Given the description of an element on the screen output the (x, y) to click on. 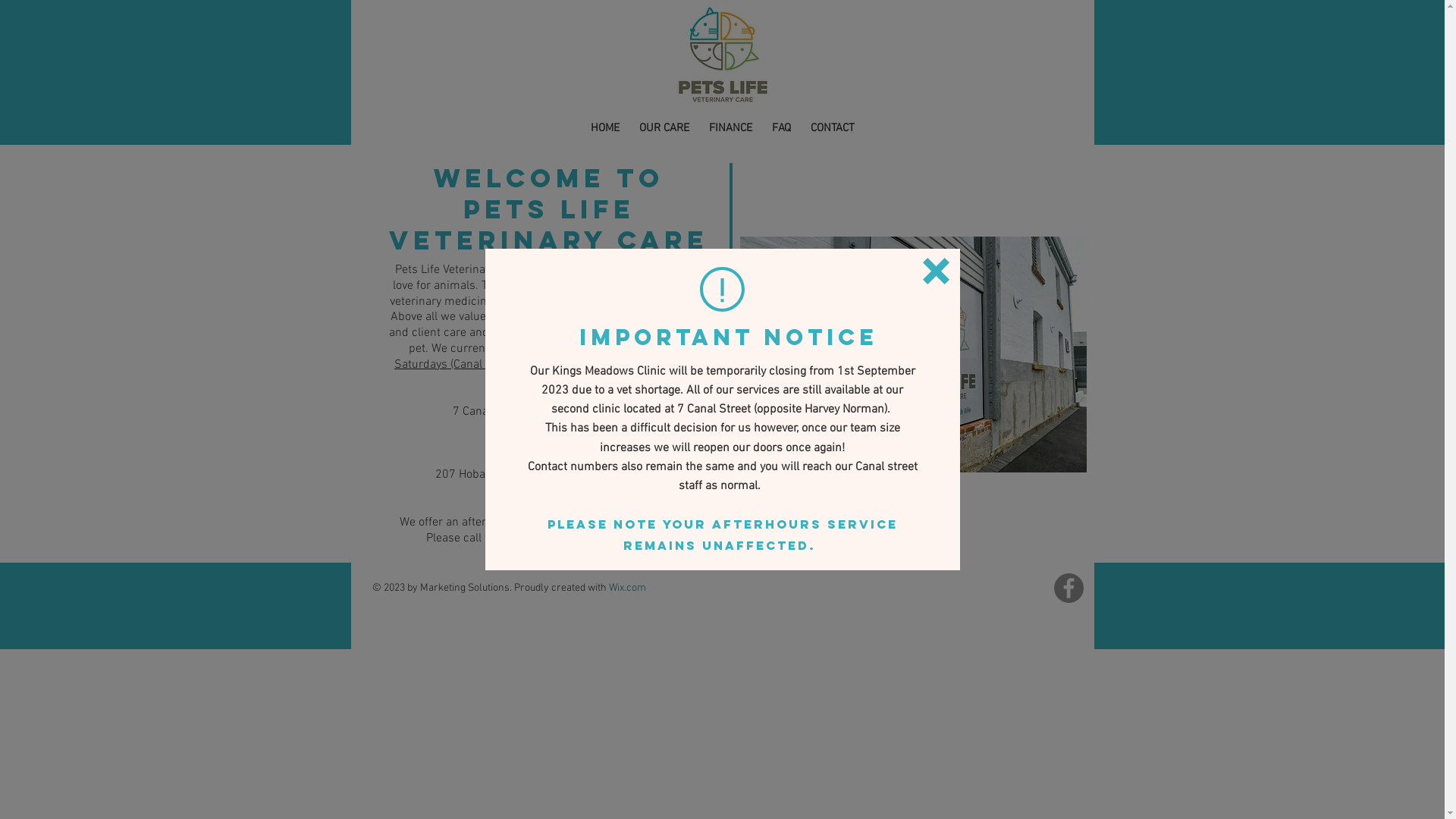
(03) 6344 5366 Element type: text (548, 490)
HOME Element type: text (604, 128)
Wix.com Element type: text (626, 587)
CONTACT Element type: text (832, 128)
(03) 6330 2189 Element type: text (548, 427)
Back to site Element type: hover (935, 270)
FAQ Element type: text (780, 128)
OUR CARE Element type: text (664, 128)
FINANCE Element type: text (730, 128)
r0_0_5568_3427_w1200_h678_fmax_edited.jpg Element type: hover (913, 354)
